Given the description of an element on the screen output the (x, y) to click on. 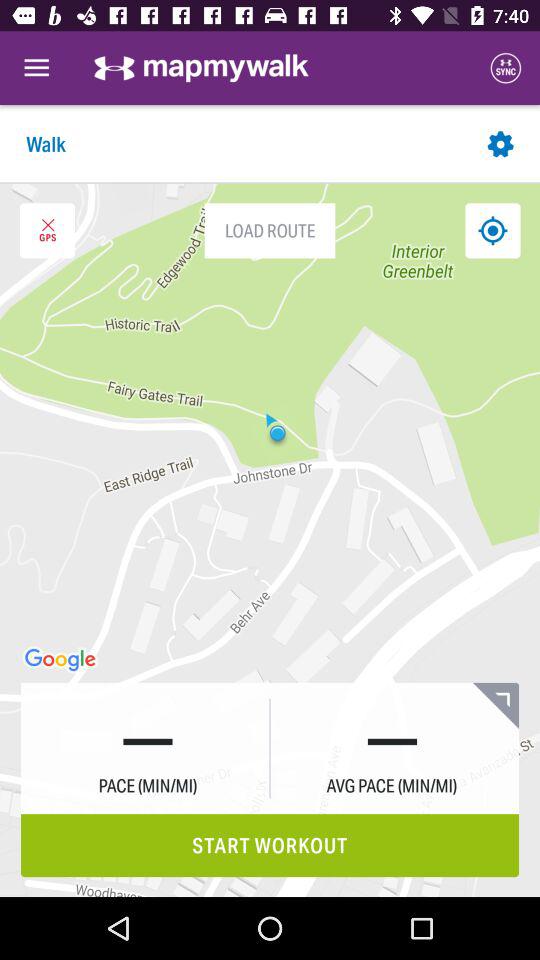
launch the load route icon (269, 230)
